Given the description of an element on the screen output the (x, y) to click on. 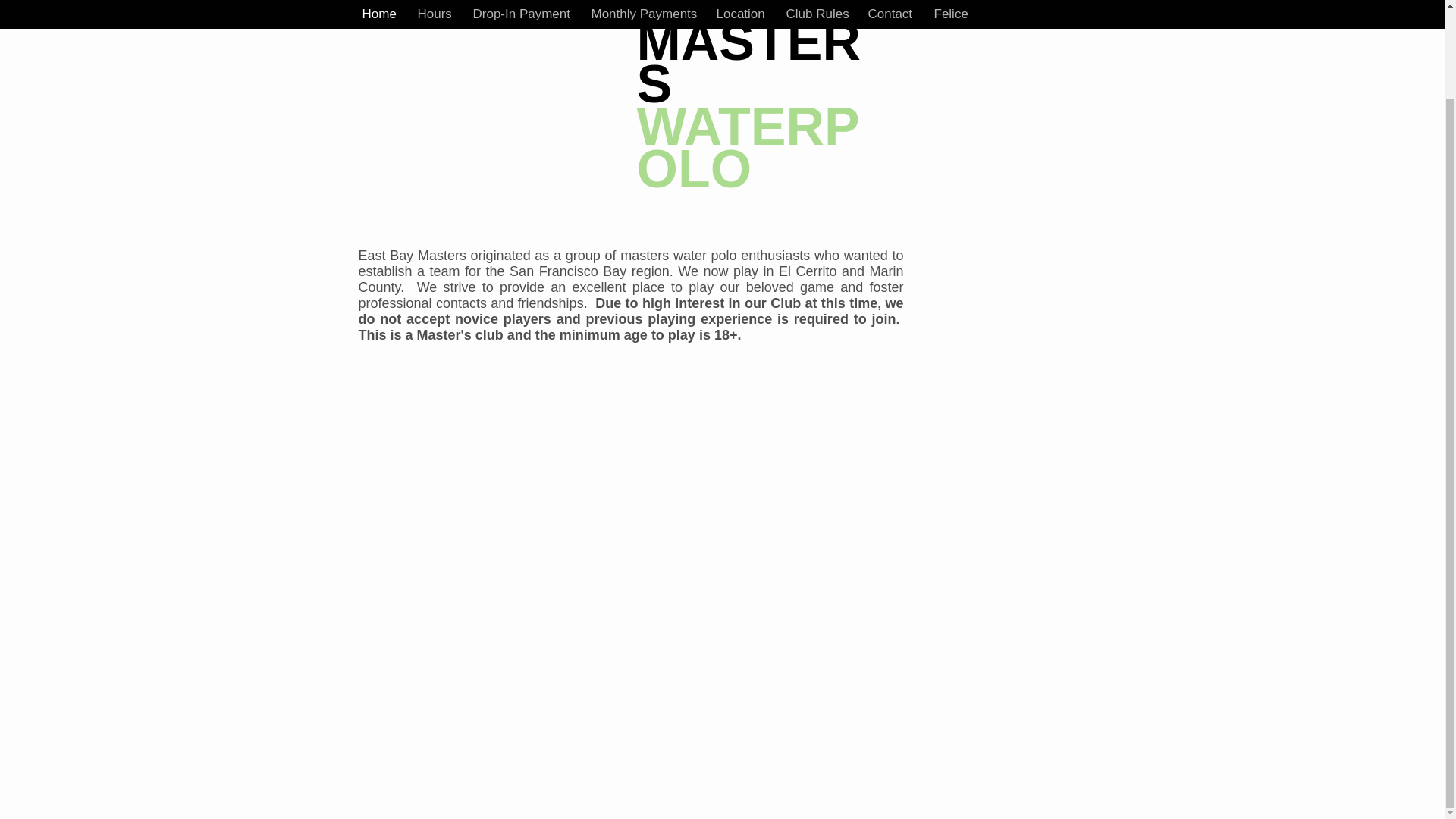
Masters Waterpolo San Francisco, East Bay (492, 54)
